Given the description of an element on the screen output the (x, y) to click on. 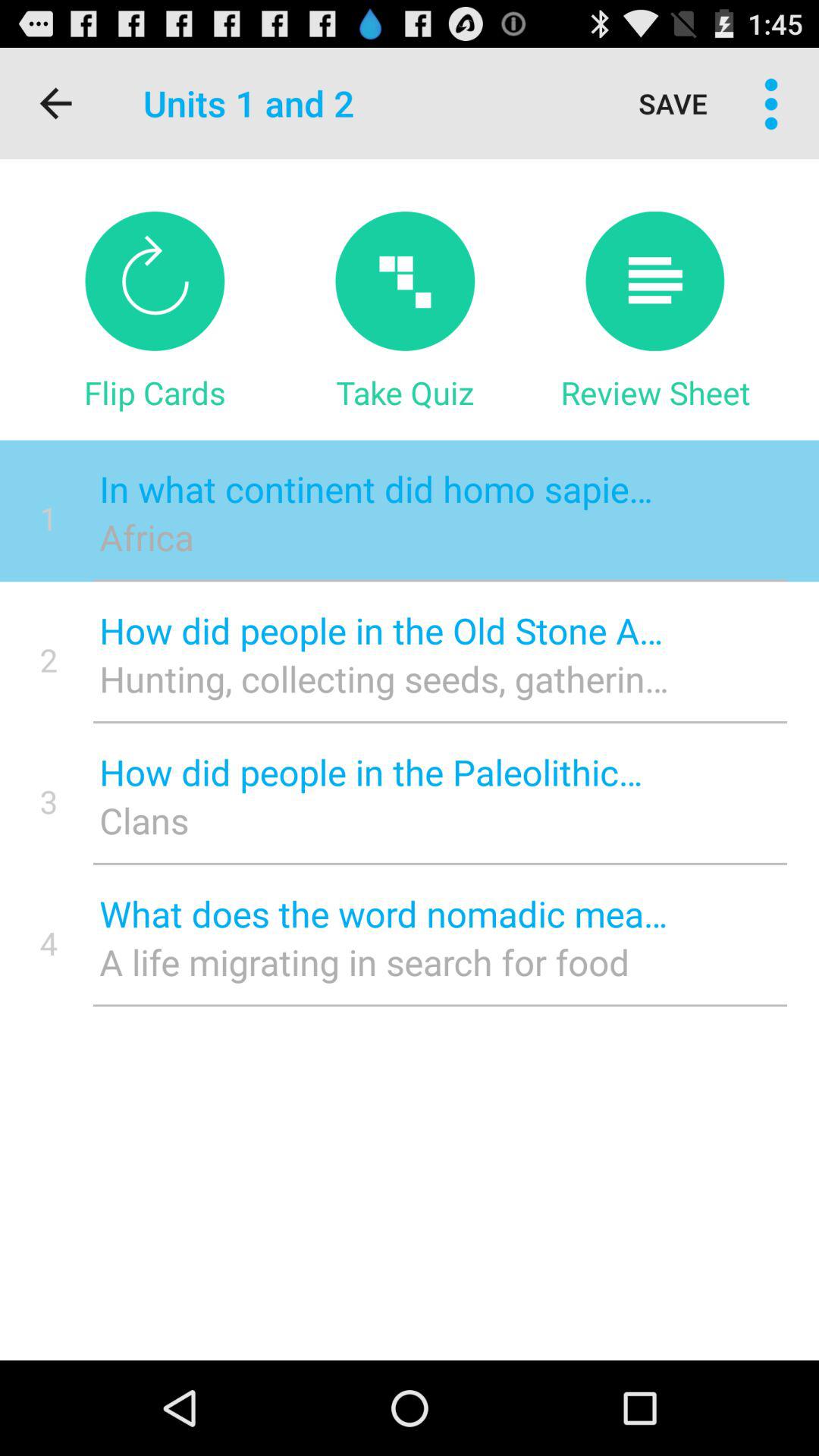
click flip cards item (154, 392)
